Given the description of an element on the screen output the (x, y) to click on. 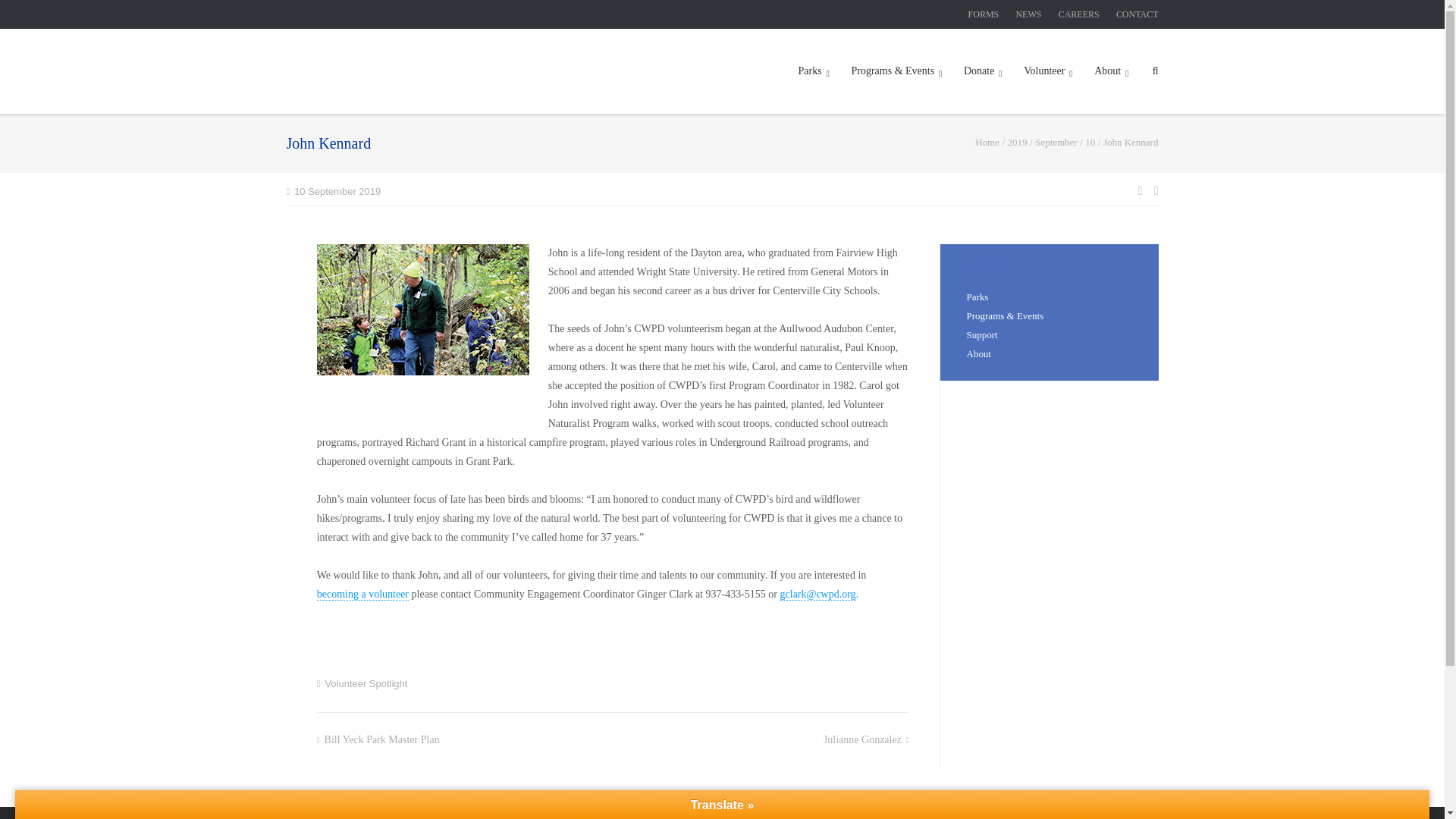
2019 (1017, 142)
September (1056, 142)
CONTACT (1137, 14)
CAREERS (1078, 14)
Centerville-Washington Park District (986, 142)
FORMS (983, 14)
Home (986, 142)
NEWS (1027, 14)
